Given the description of an element on the screen output the (x, y) to click on. 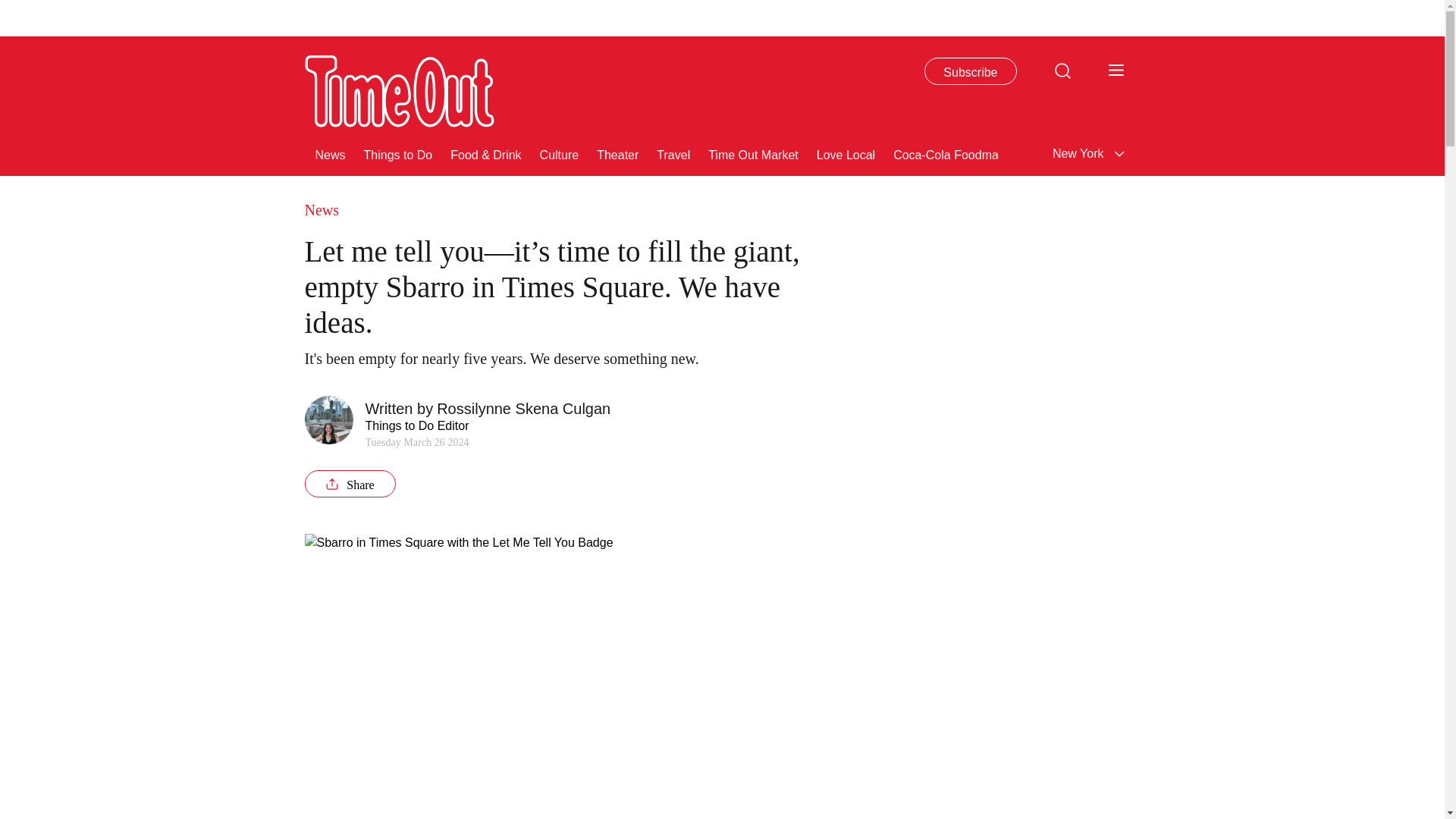
Love Local (845, 153)
Attractions (1103, 153)
Hotels (1407, 153)
Museums (1176, 153)
Theater (617, 153)
Subscribe (970, 71)
Things to Do (397, 153)
Music (1293, 153)
Go to the content (10, 7)
Culture (559, 153)
